Given the description of an element on the screen output the (x, y) to click on. 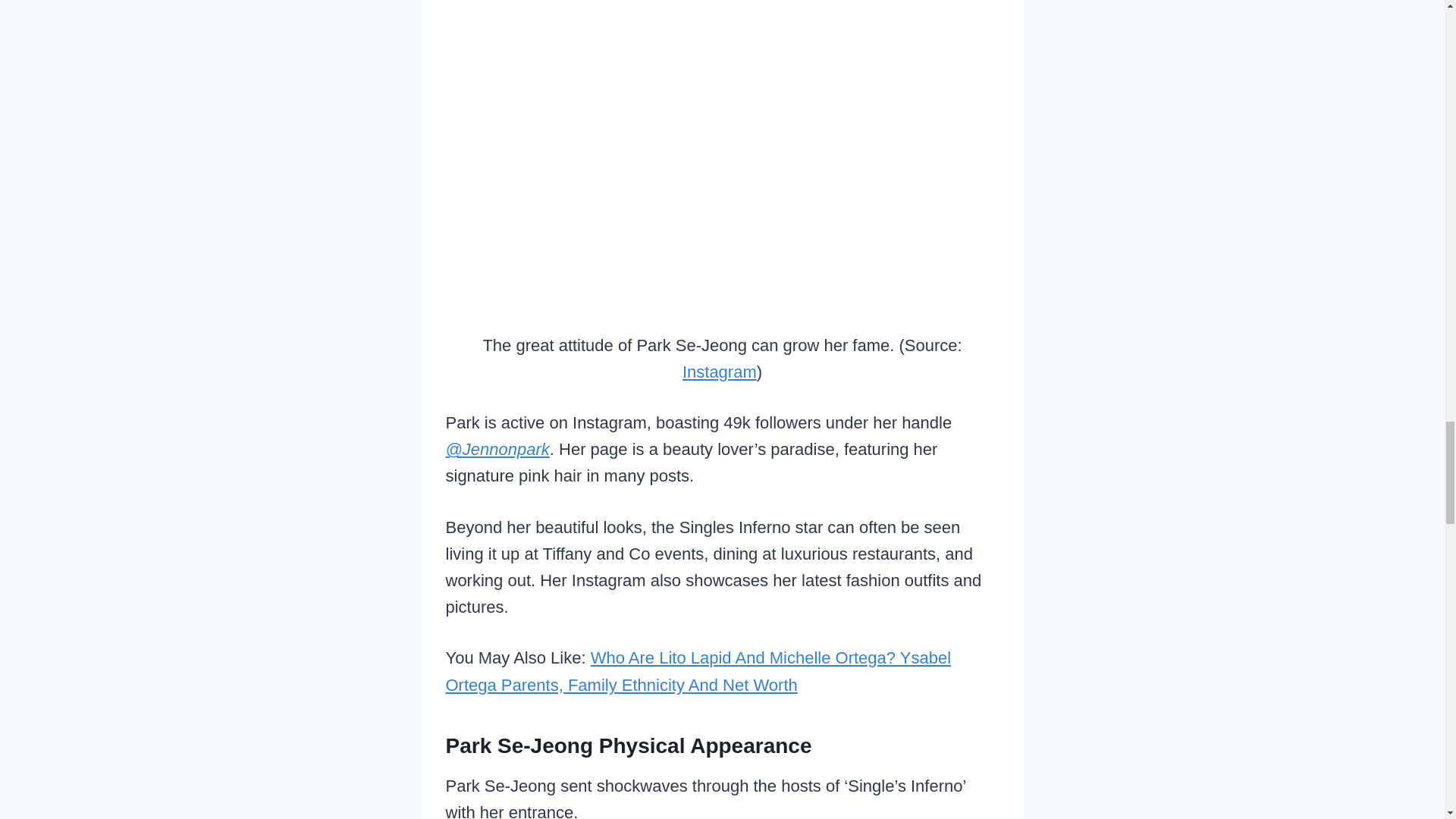
Instagram (719, 371)
